Given the description of an element on the screen output the (x, y) to click on. 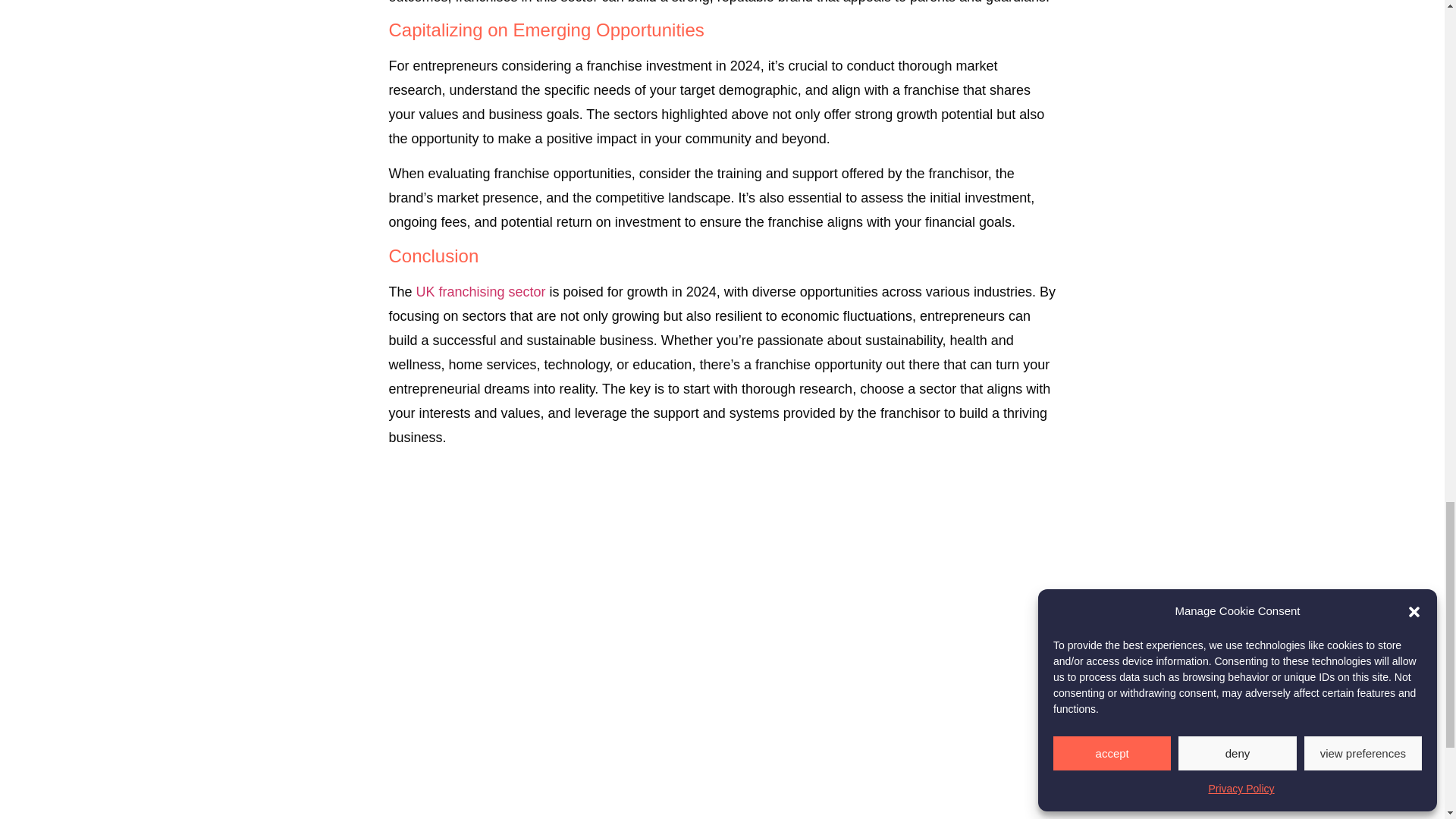
UK franchising sector (481, 291)
